Given the description of an element on the screen output the (x, y) to click on. 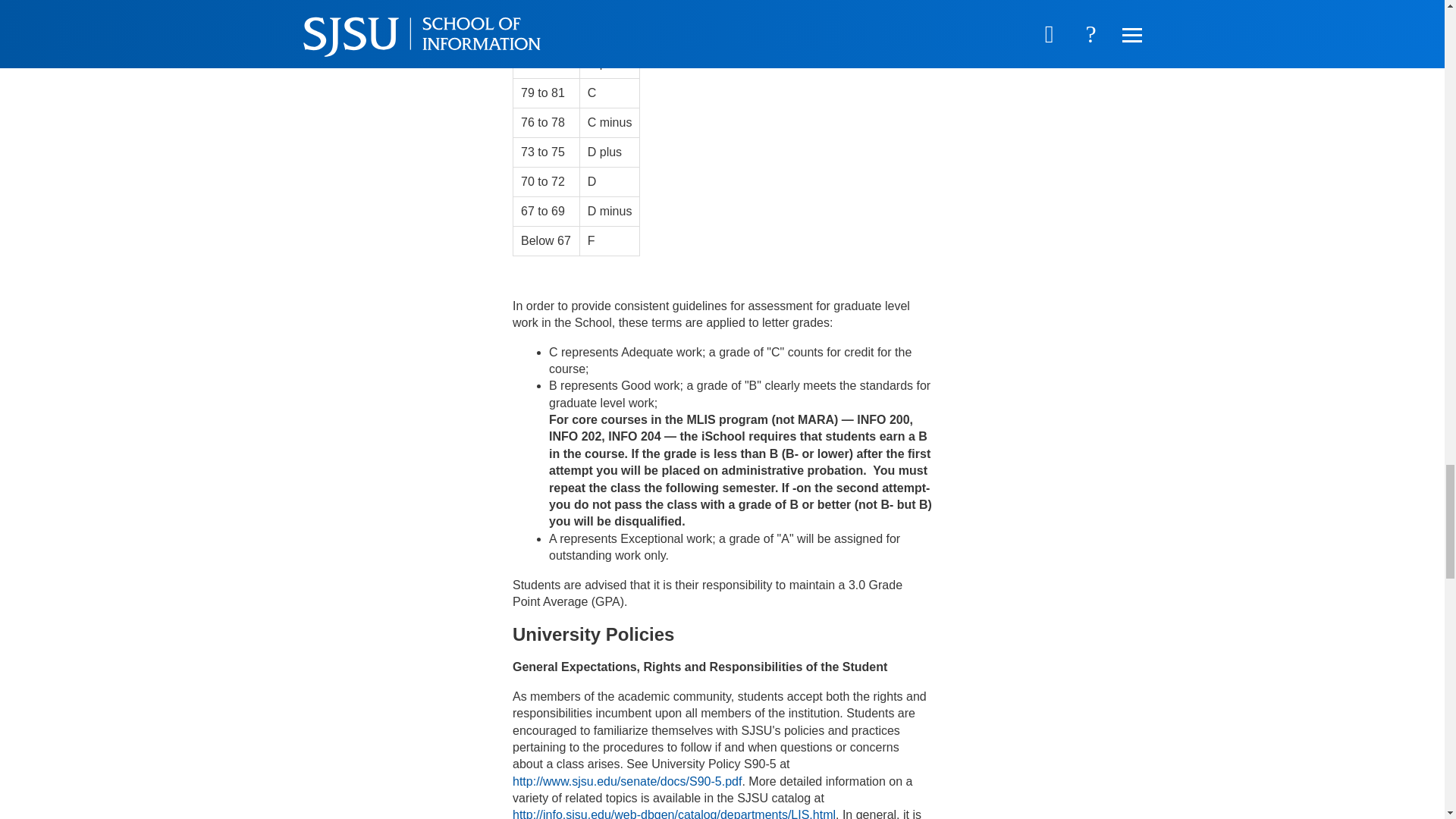
University Catalog for LIS courses (673, 813)
